Given the description of an element on the screen output the (x, y) to click on. 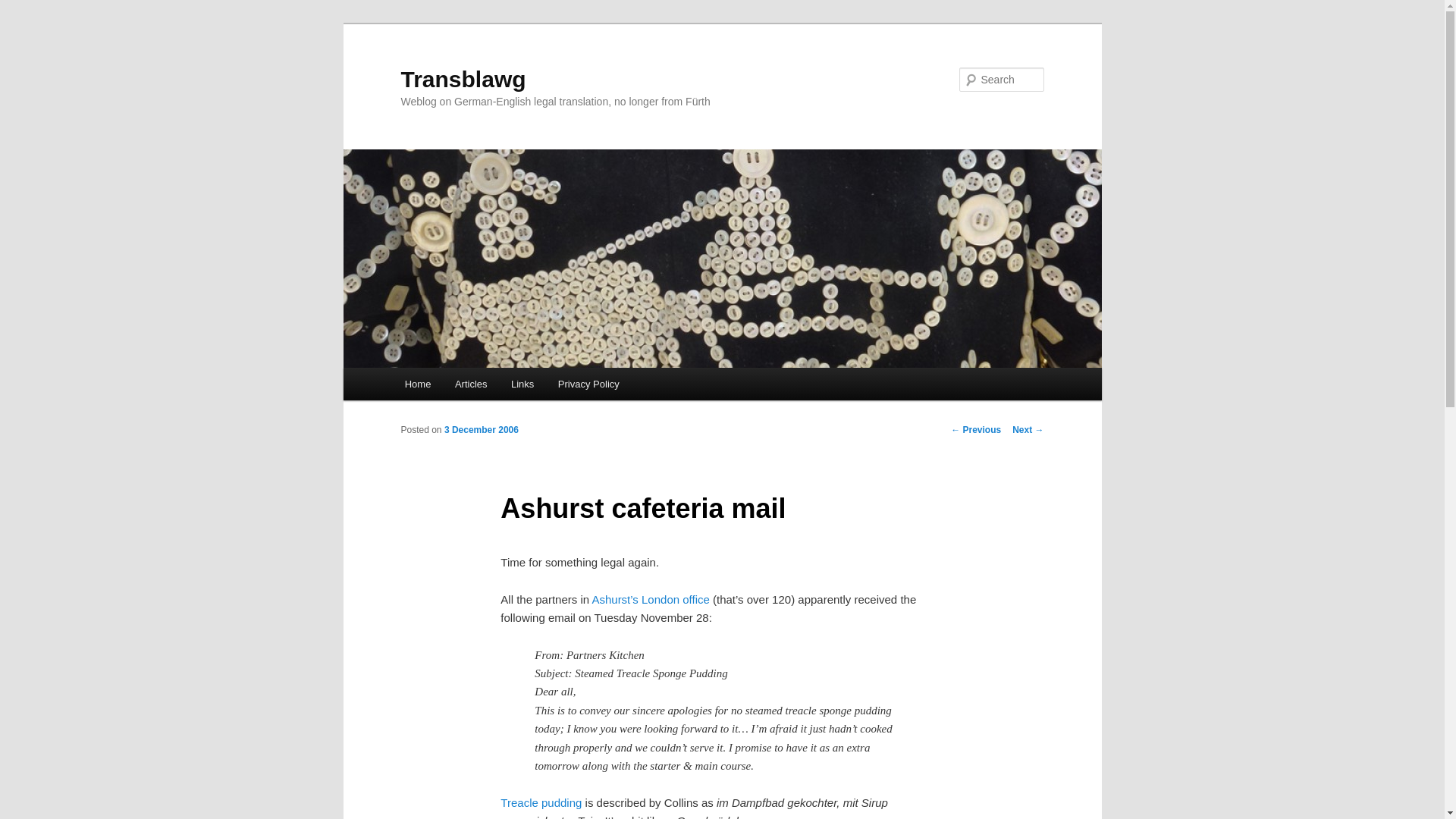
Privacy Policy (588, 383)
Transblawg (462, 78)
Search (24, 8)
Links (522, 383)
3 December 2006 (481, 429)
Home (417, 383)
Articles (470, 383)
London office (677, 599)
Treacle pudding (540, 802)
